Given the description of an element on the screen output the (x, y) to click on. 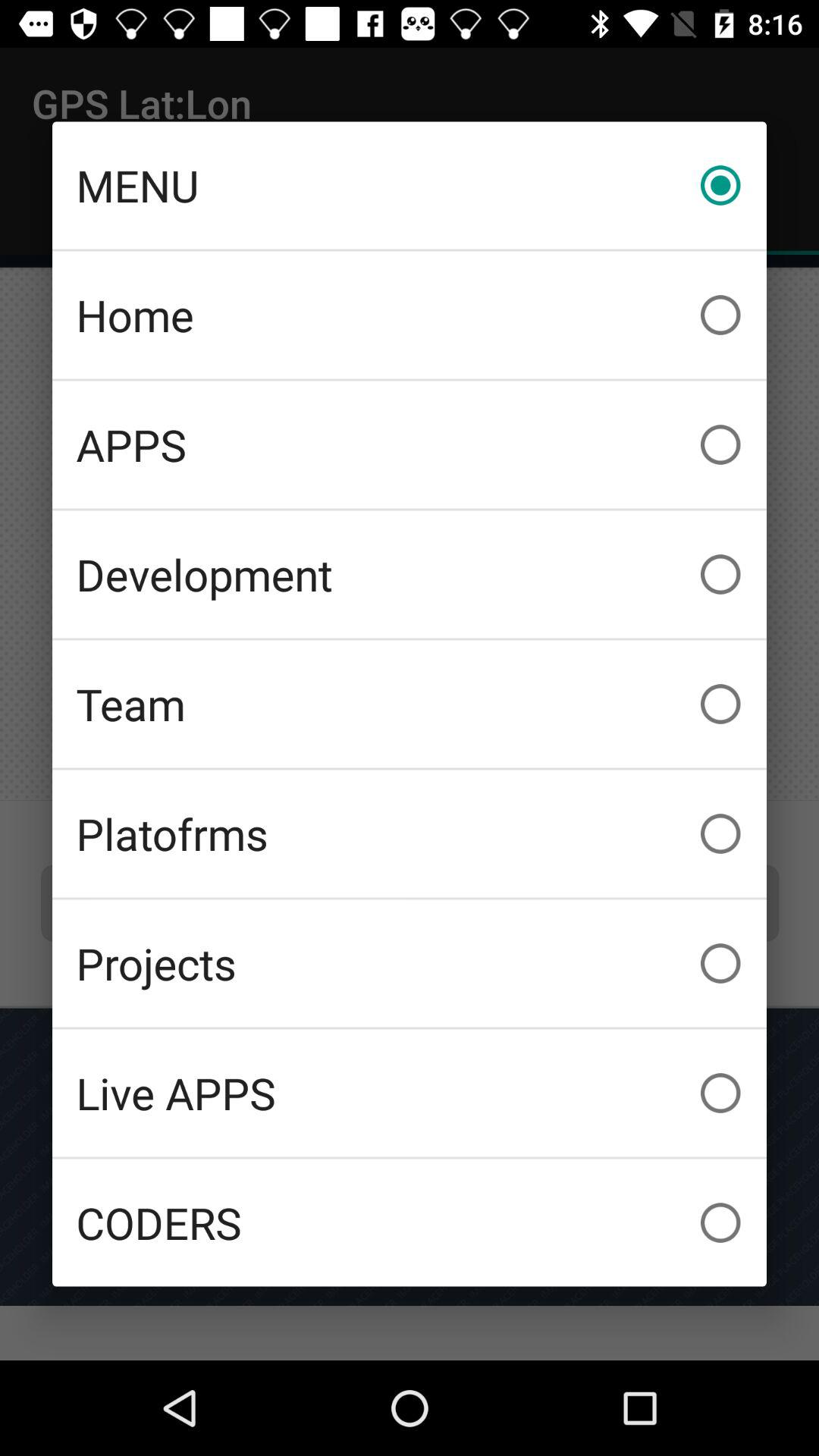
swipe until the live apps item (409, 1092)
